Given the description of an element on the screen output the (x, y) to click on. 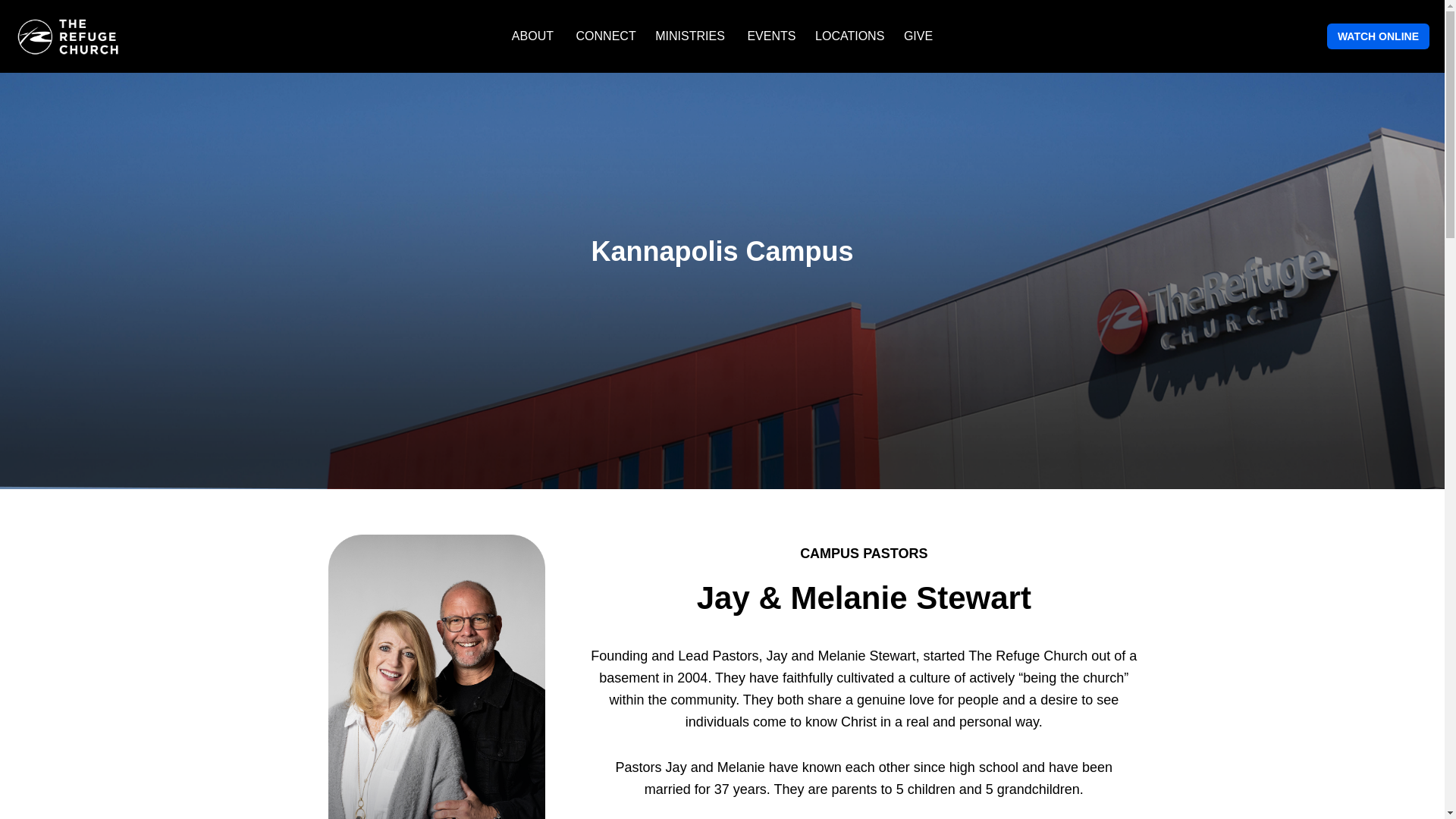
WATCH ONLINE (1377, 36)
LOCATIONS (854, 35)
ABOUT (532, 35)
MINISTRIES (689, 35)
GIVE (917, 35)
EVENTS (778, 35)
CONNECT (612, 35)
